Given the description of an element on the screen output the (x, y) to click on. 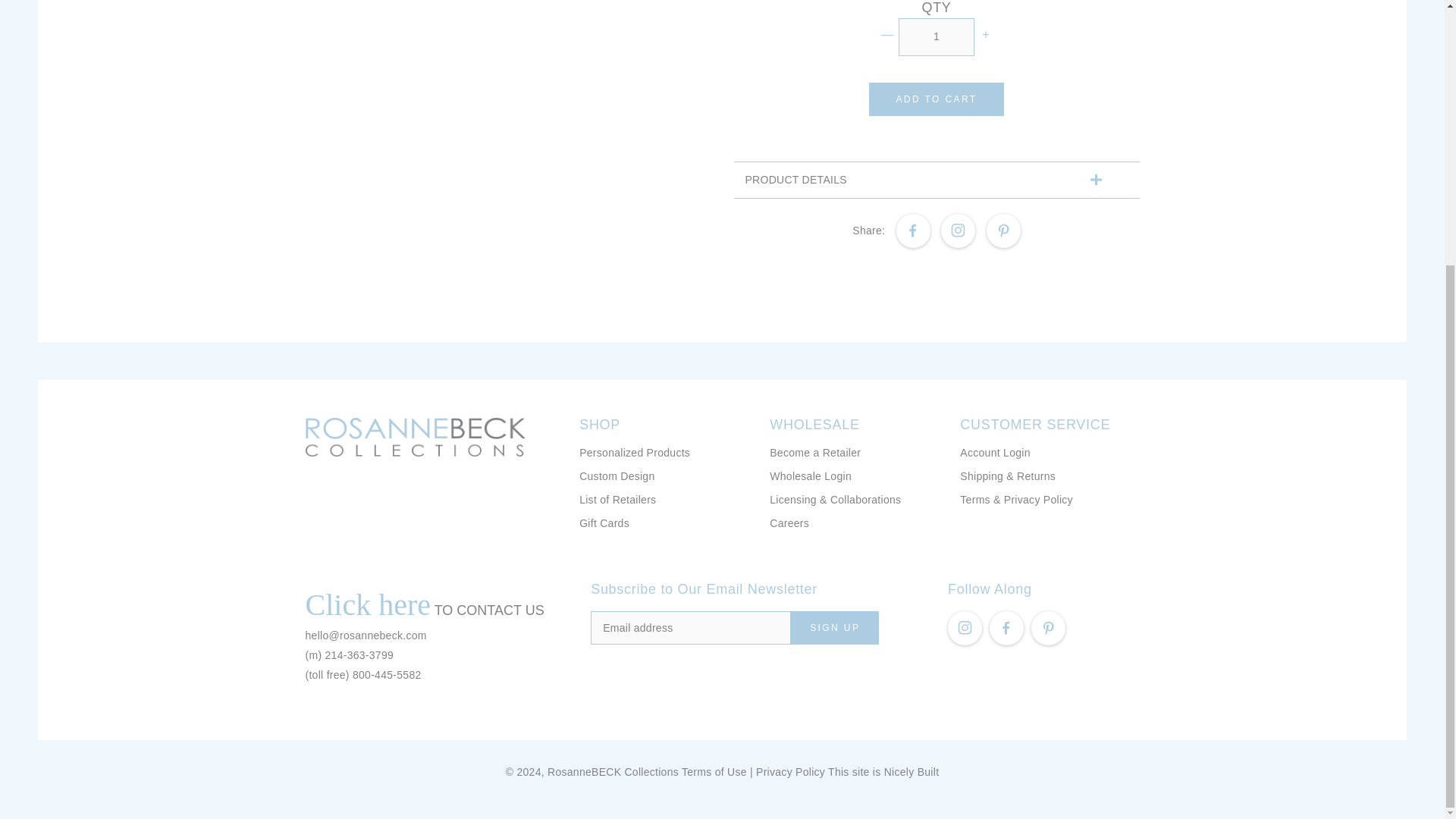
tel:800-445-5582 (387, 674)
1 (936, 37)
tel:214-363-3799 (358, 654)
